Given the description of an element on the screen output the (x, y) to click on. 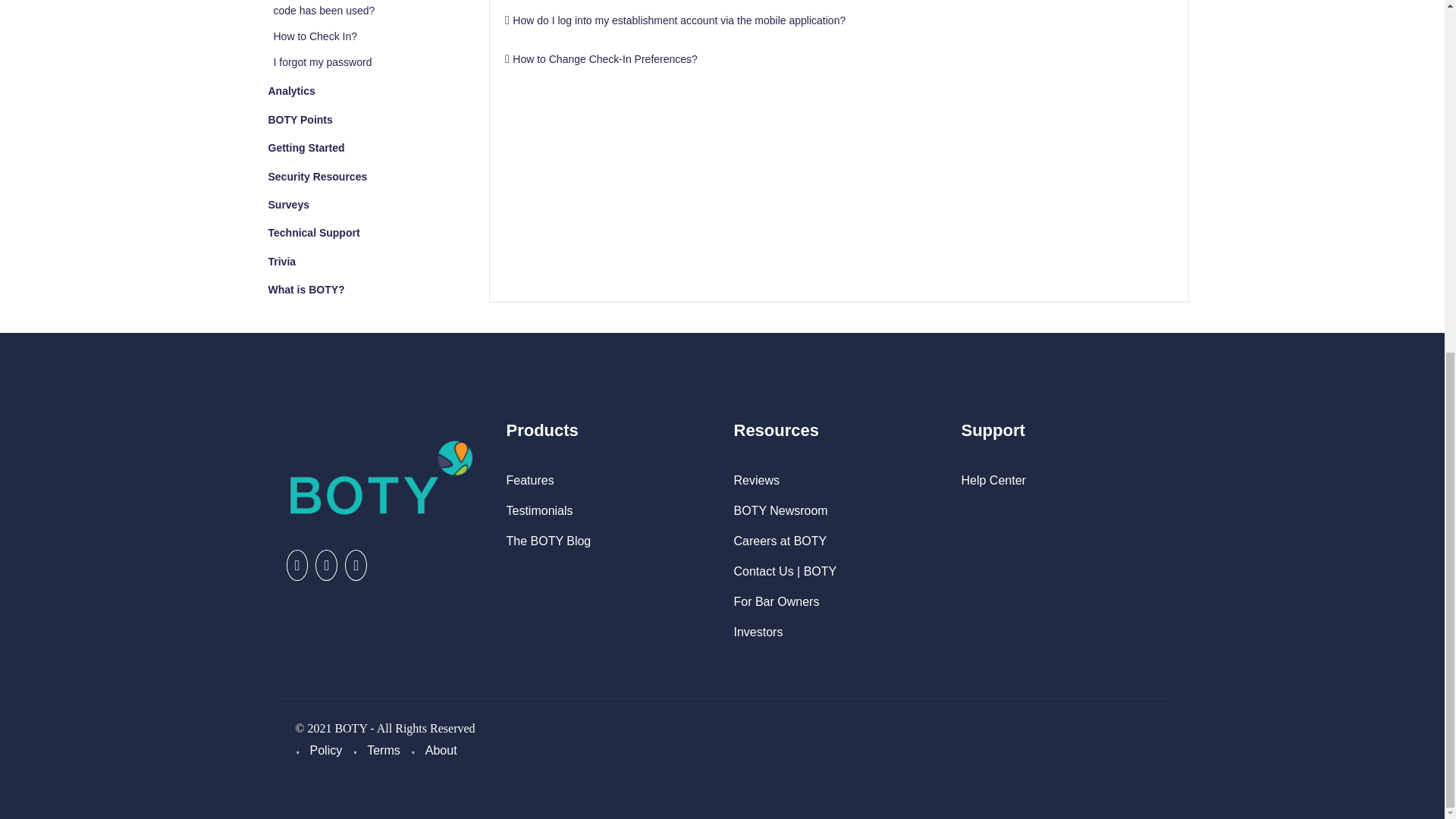
How to Change Check-In Preferences? (604, 59)
How to check how many times my referral code has been used? (371, 9)
How to Check In? (314, 36)
I forgot my password (322, 62)
Analytics (290, 91)
BOTY Points (299, 119)
